Given the description of an element on the screen output the (x, y) to click on. 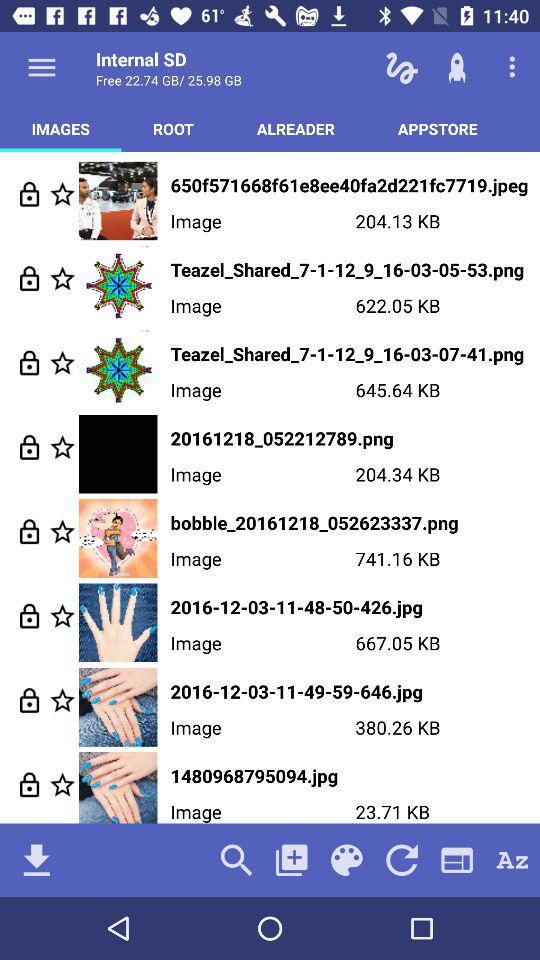
add to favorites (62, 615)
